Given the description of an element on the screen output the (x, y) to click on. 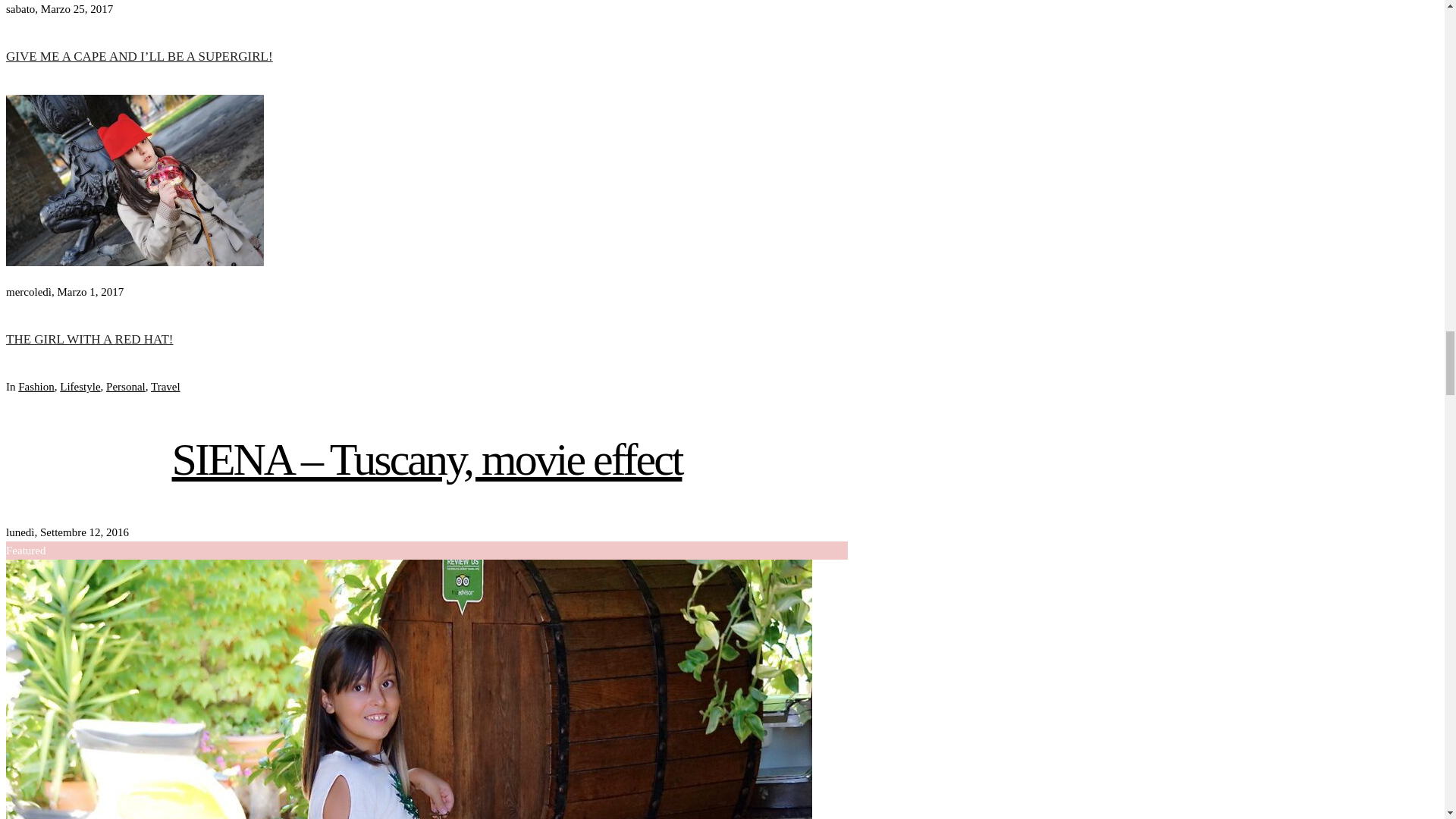
THE GIRL WITH A RED HAT! (134, 262)
